Given the description of an element on the screen output the (x, y) to click on. 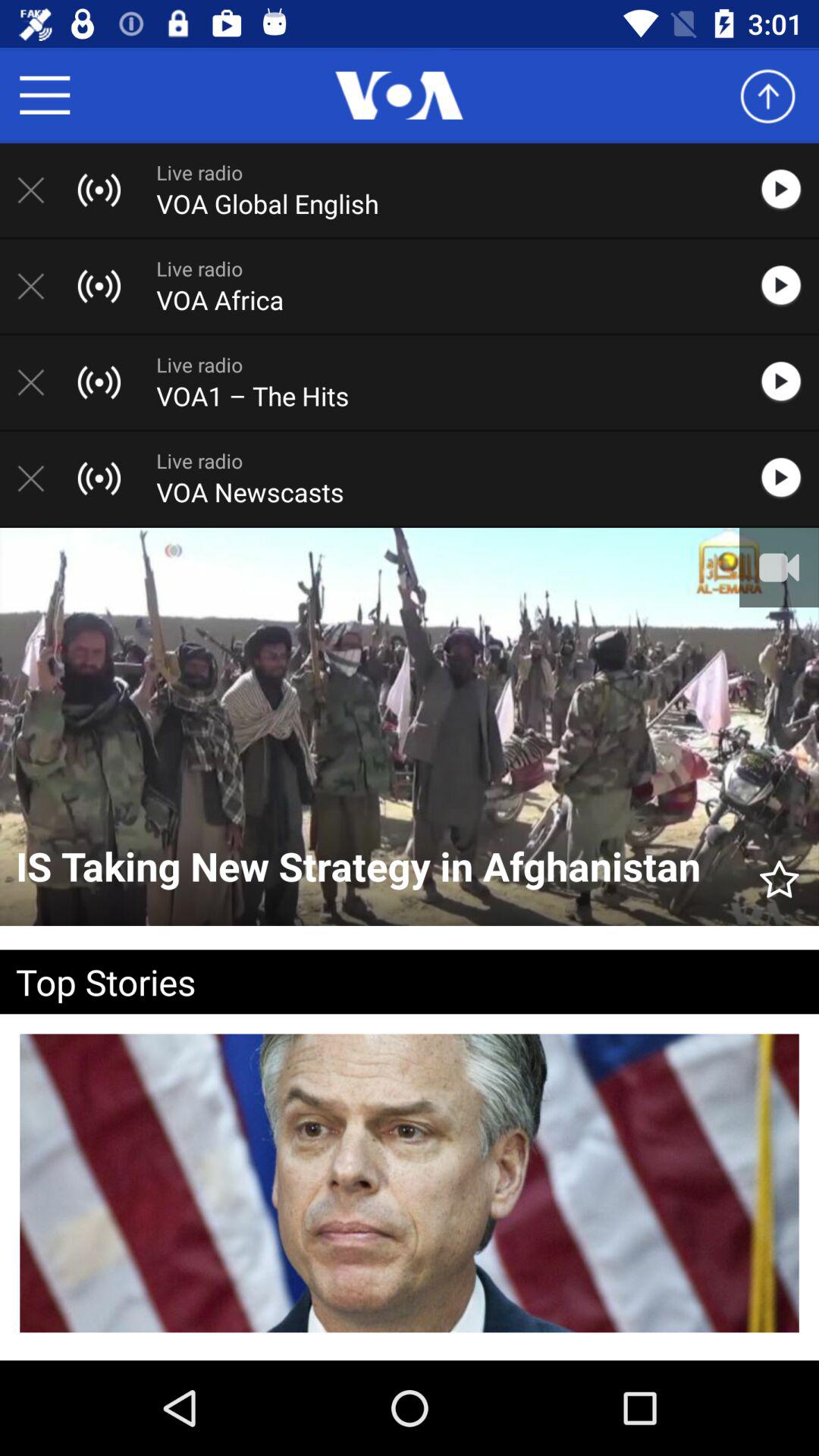
jump to the is taking new (377, 867)
